Given the description of an element on the screen output the (x, y) to click on. 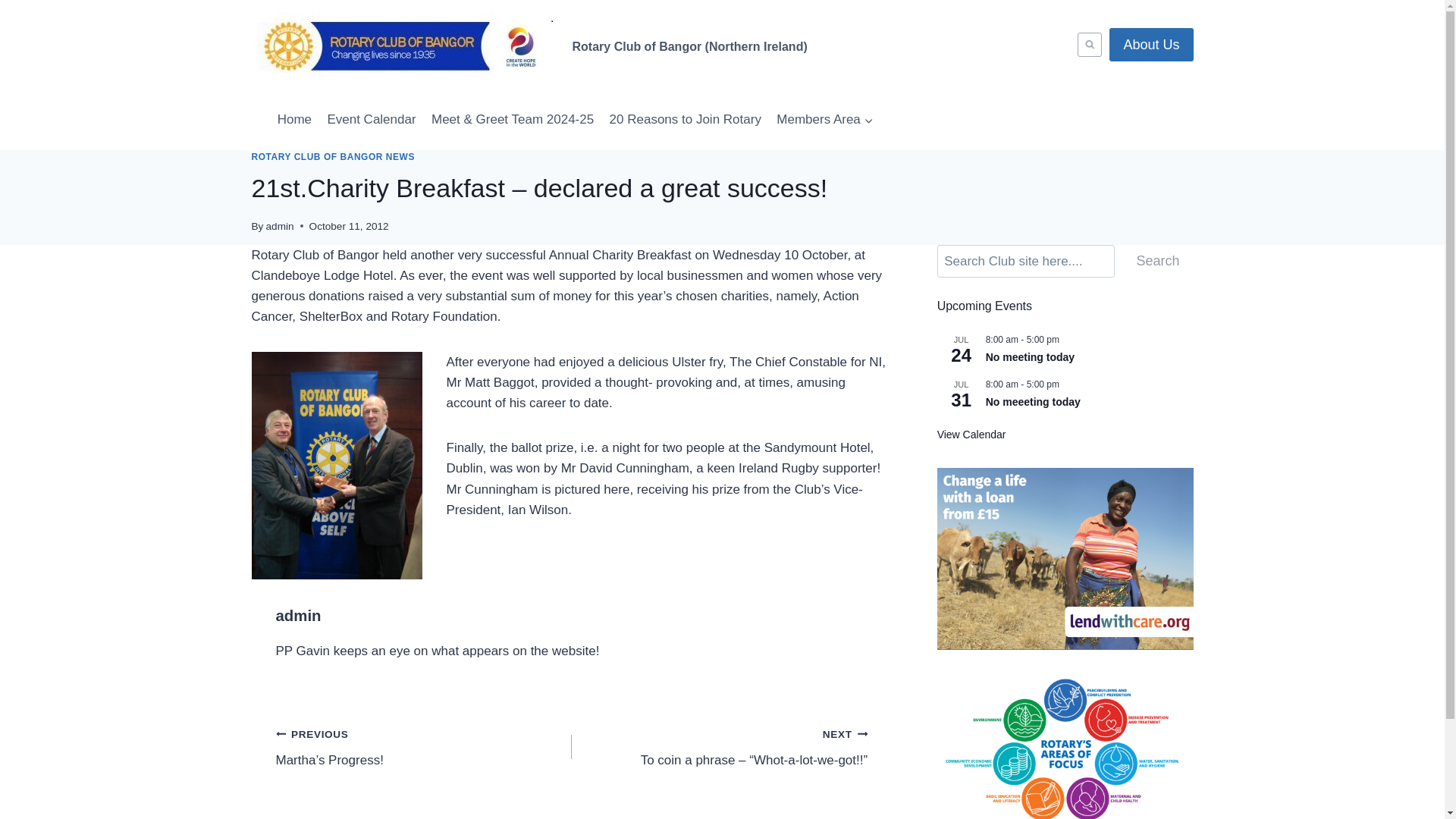
20 Reasons to Join Rotary (684, 119)
No meeeting today (1032, 401)
Search (1157, 260)
Members Area (824, 119)
No meeting today (1029, 357)
Event Calendar (370, 119)
admin (298, 615)
Home (294, 119)
View Calendar (971, 434)
Posts by admin (298, 615)
About Us (1150, 43)
No meeeting today (1032, 401)
View more events. (971, 434)
No meeting today (1029, 357)
ROTARY CLUB OF BANGOR NEWS (332, 156)
